Given the description of an element on the screen output the (x, y) to click on. 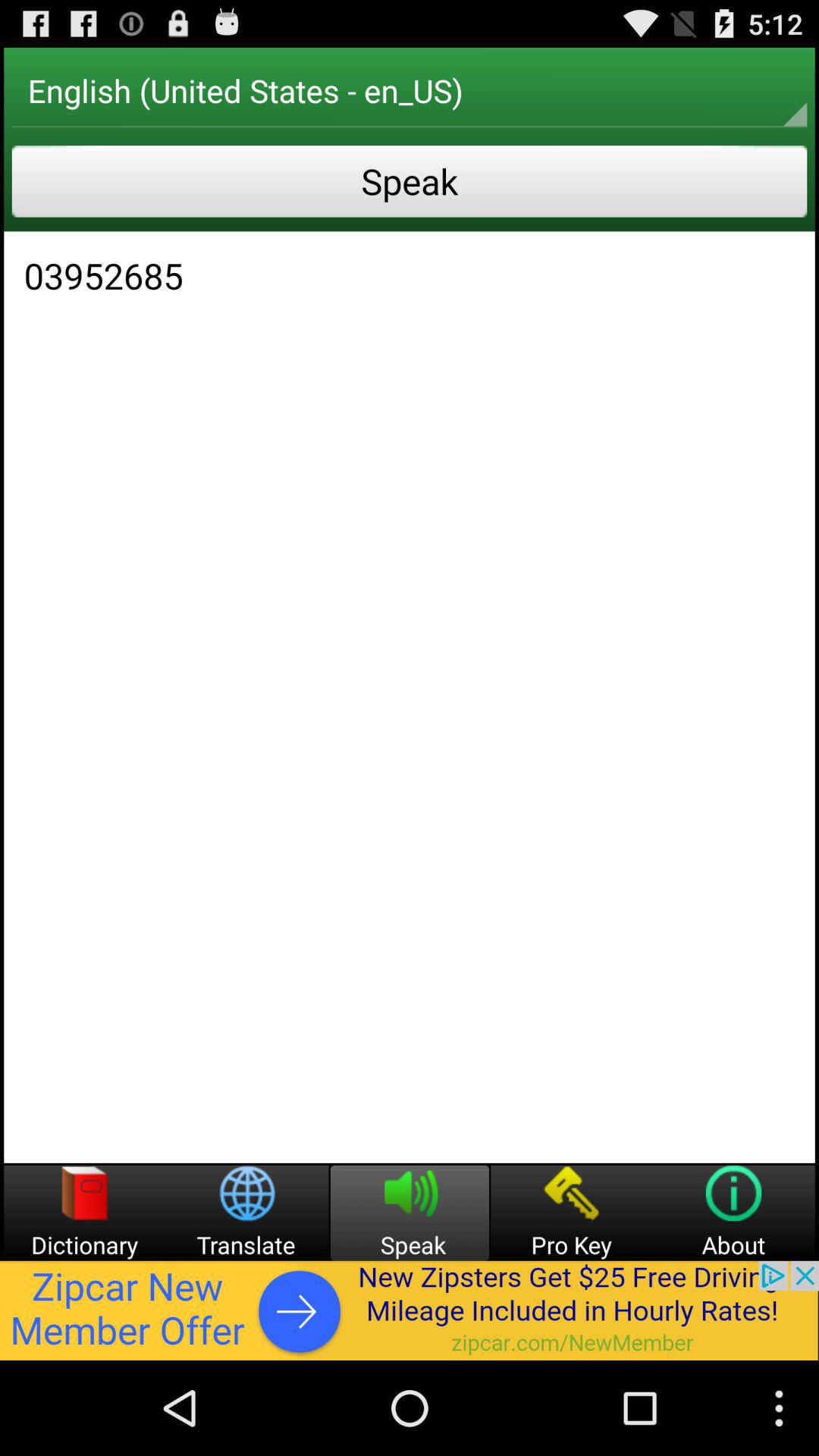
go to next (409, 1310)
